Given the description of an element on the screen output the (x, y) to click on. 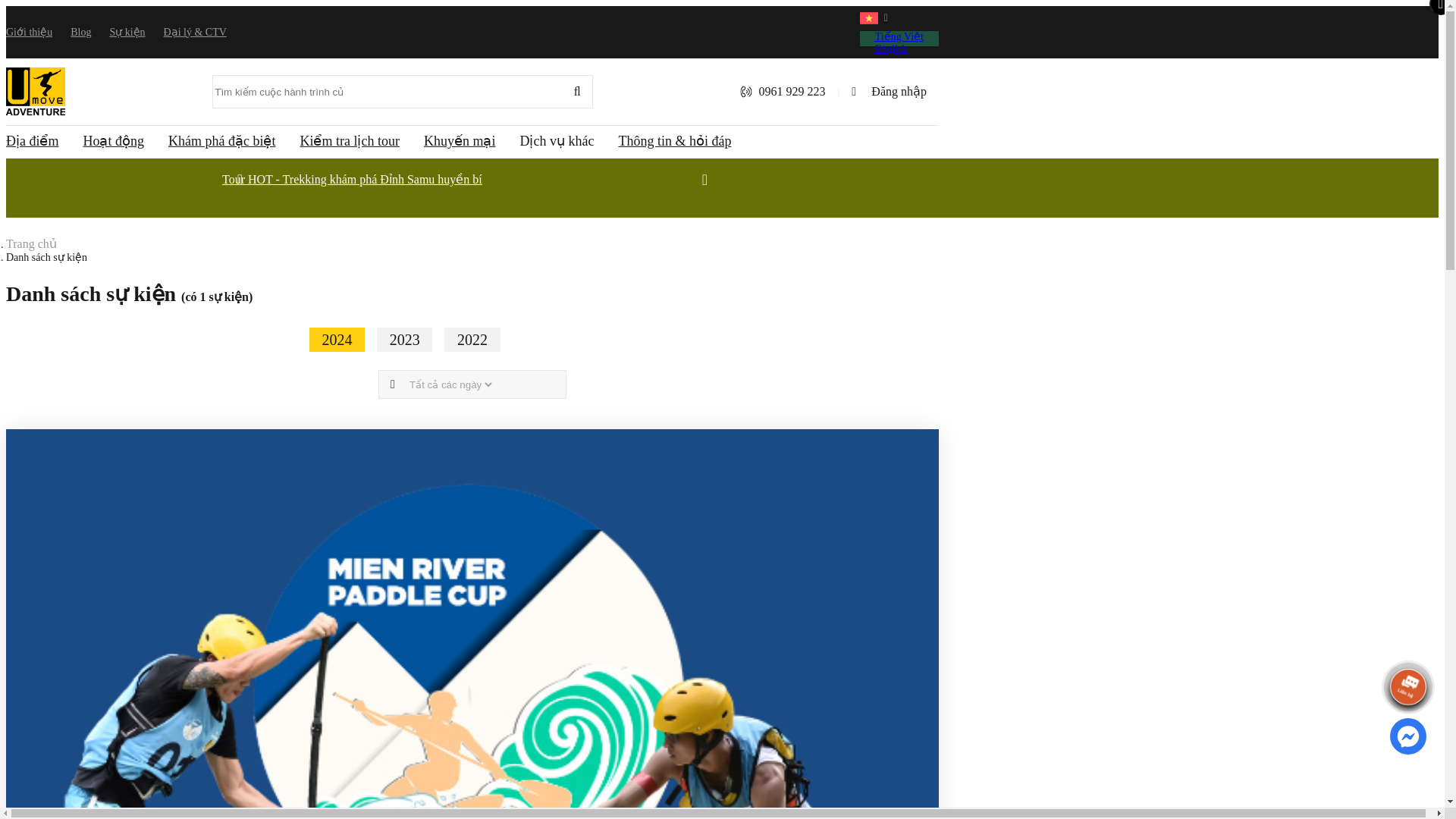
Blog (79, 31)
0961 929 223 (782, 91)
English (891, 48)
